Given the description of an element on the screen output the (x, y) to click on. 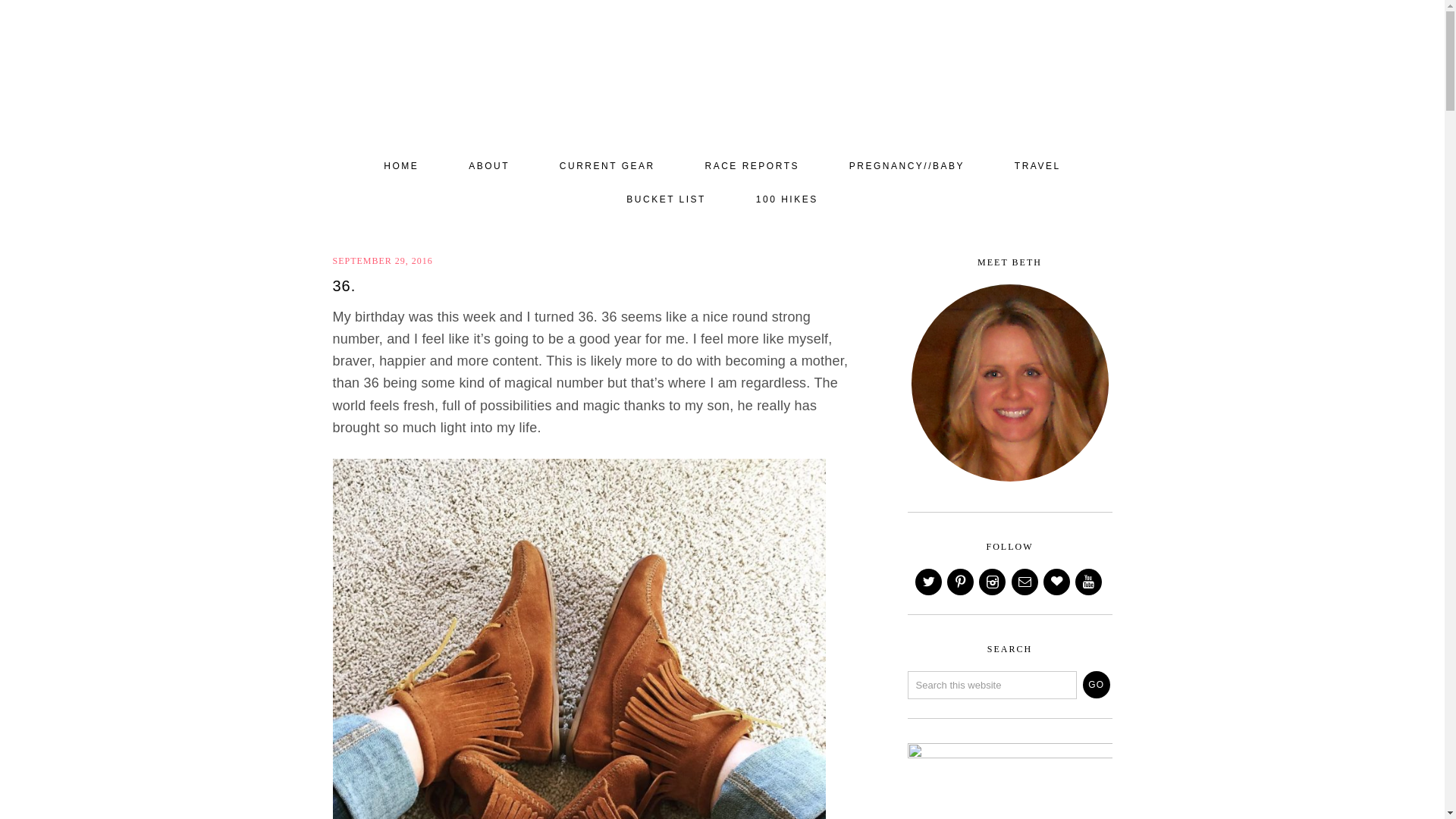
BUCKET LIST (666, 200)
GO (1096, 684)
ABOUT (488, 166)
Instagram (992, 582)
Pinterest (961, 582)
Email Me (1026, 582)
Youtube (1089, 582)
Twitter (929, 582)
CURRENT GEAR (607, 166)
TRAVEL (1037, 166)
